Given the description of an element on the screen output the (x, y) to click on. 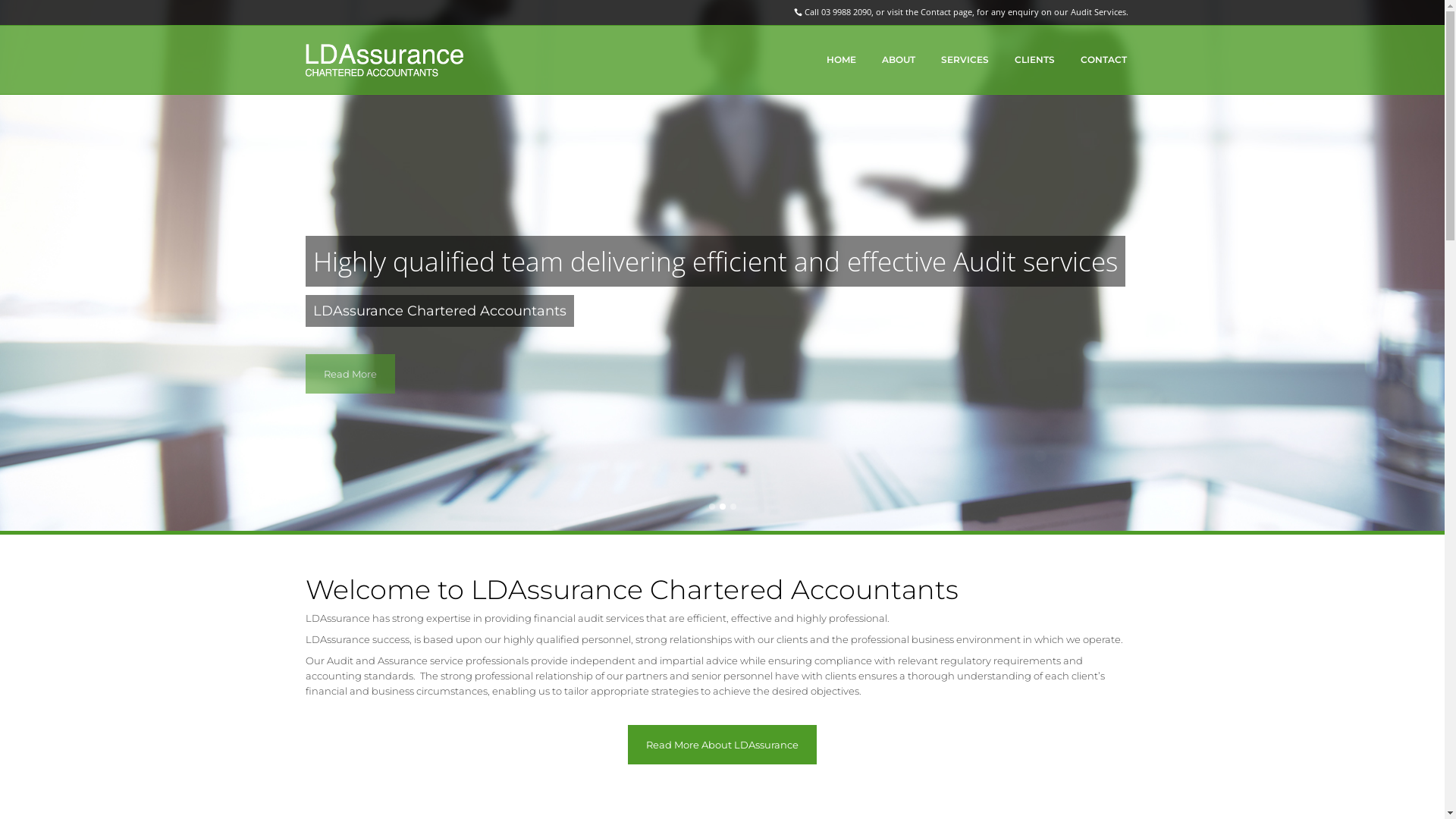
enquiry@ldassurance.com.au Element type: text (1022, 618)
Read More About LDAssurance Element type: text (721, 744)
Privacy Police Element type: text (874, 798)
Audit and Assurance Services Element type: text (831, 703)
CLIENTS Element type: text (1033, 59)
Not for Profit Audit Services Element type: text (831, 666)
For Profit / Commercial Audits Element type: text (831, 685)
IECnet Element type: text (544, 659)
ABOUT Element type: text (898, 59)
SERVICES Element type: text (964, 59)
Forum of Firms Element type: text (641, 688)
HOME Element type: text (840, 59)
CONTACT Element type: text (1103, 59)
